Given the description of an element on the screen output the (x, y) to click on. 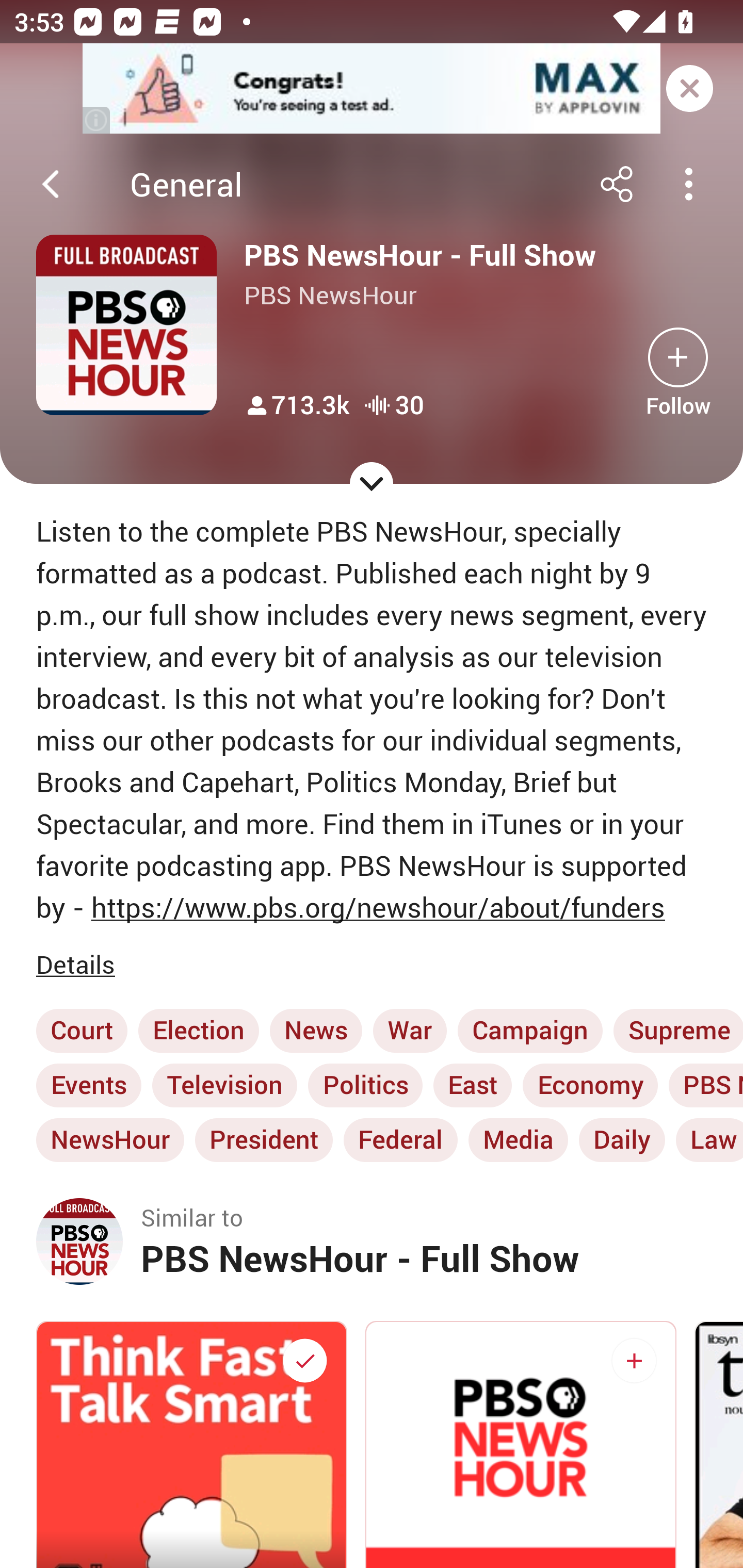
app-monetization (371, 88)
(i) (96, 119)
Back (50, 184)
Subscribe button (677, 357)
Details (79, 965)
Court (81, 1030)
Election (198, 1030)
News (315, 1030)
War (409, 1030)
Campaign (529, 1030)
Supreme (678, 1030)
Events (88, 1085)
Television (224, 1085)
Politics (365, 1085)
East (472, 1085)
Economy (589, 1085)
NewsHour (110, 1139)
President (263, 1139)
Federal (400, 1139)
Media (518, 1139)
Daily (621, 1139)
PBS NewsHour - Segments Subscribe button (520, 1444)
Unsubscribe button (304, 1360)
Subscribe button (634, 1360)
